Given the description of an element on the screen output the (x, y) to click on. 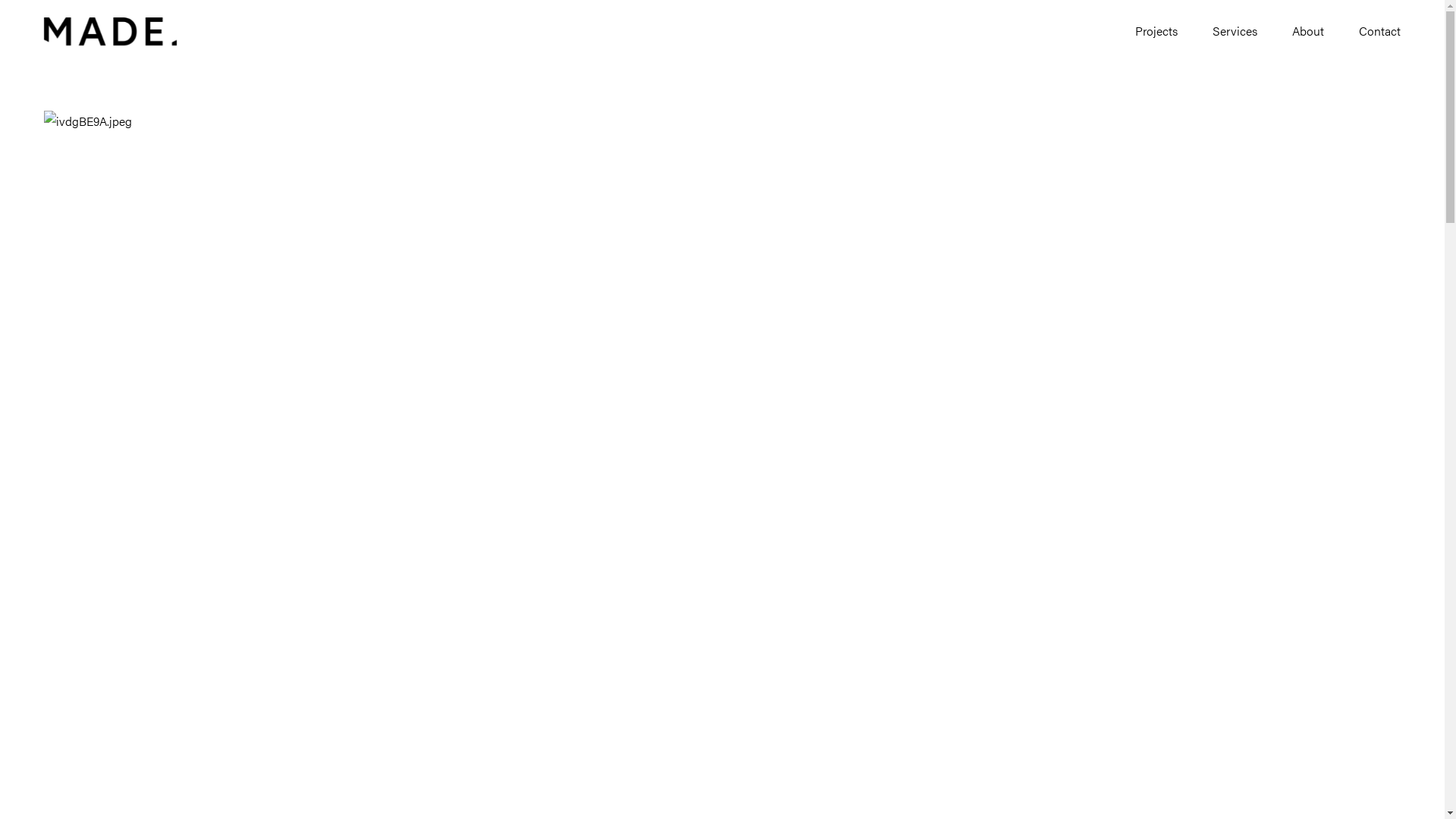
Services Element type: text (1234, 31)
Projects Element type: text (1156, 31)
Contact Element type: text (1379, 31)
About Element type: text (1308, 31)
